Given the description of an element on the screen output the (x, y) to click on. 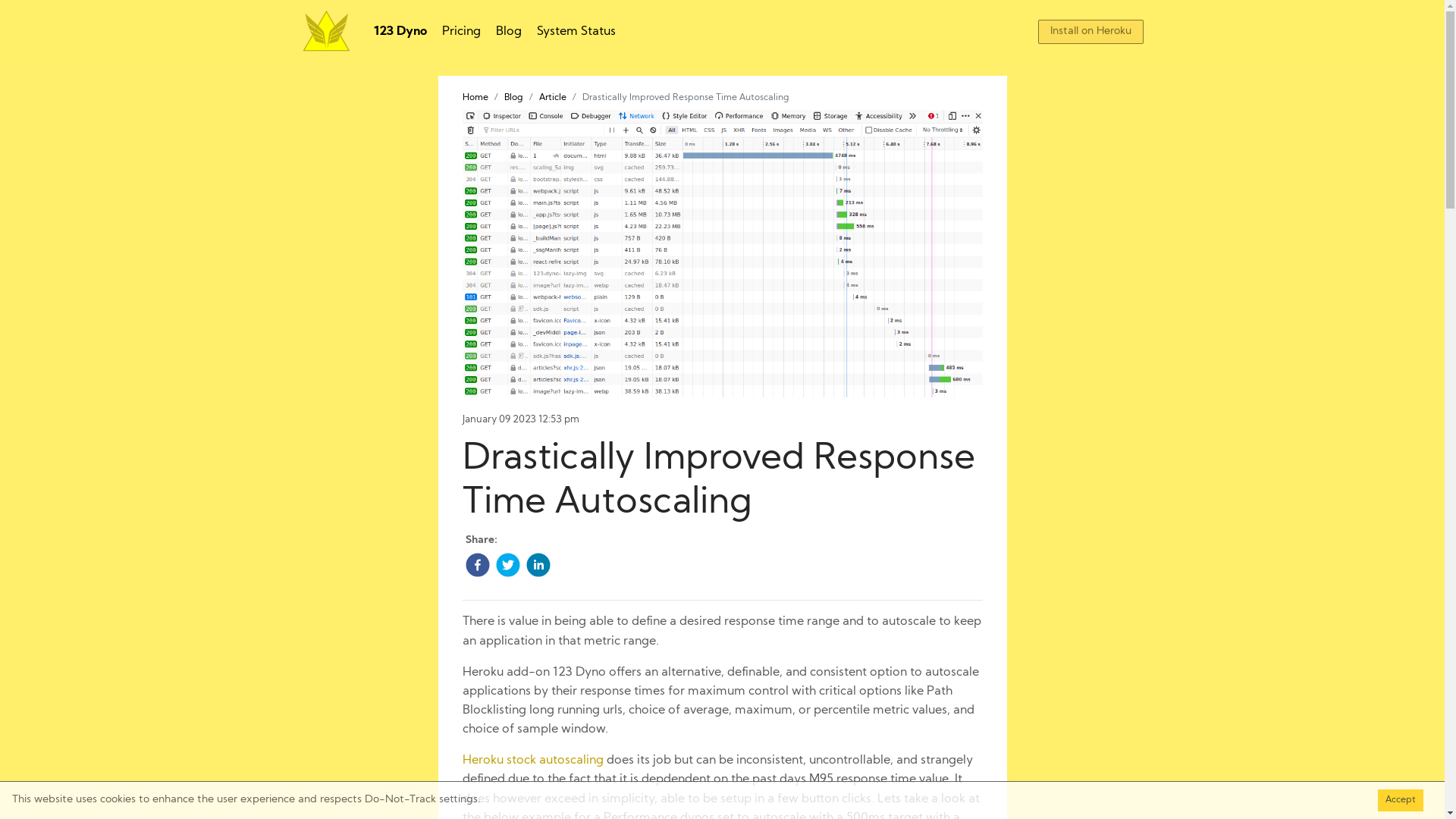
Heroku stock autoscaling Element type: text (532, 760)
Blog Element type: text (512, 97)
Home Element type: text (475, 97)
Install on Heroku Element type: text (1089, 31)
Article Element type: text (551, 97)
Accept Element type: text (1400, 800)
